Given the description of an element on the screen output the (x, y) to click on. 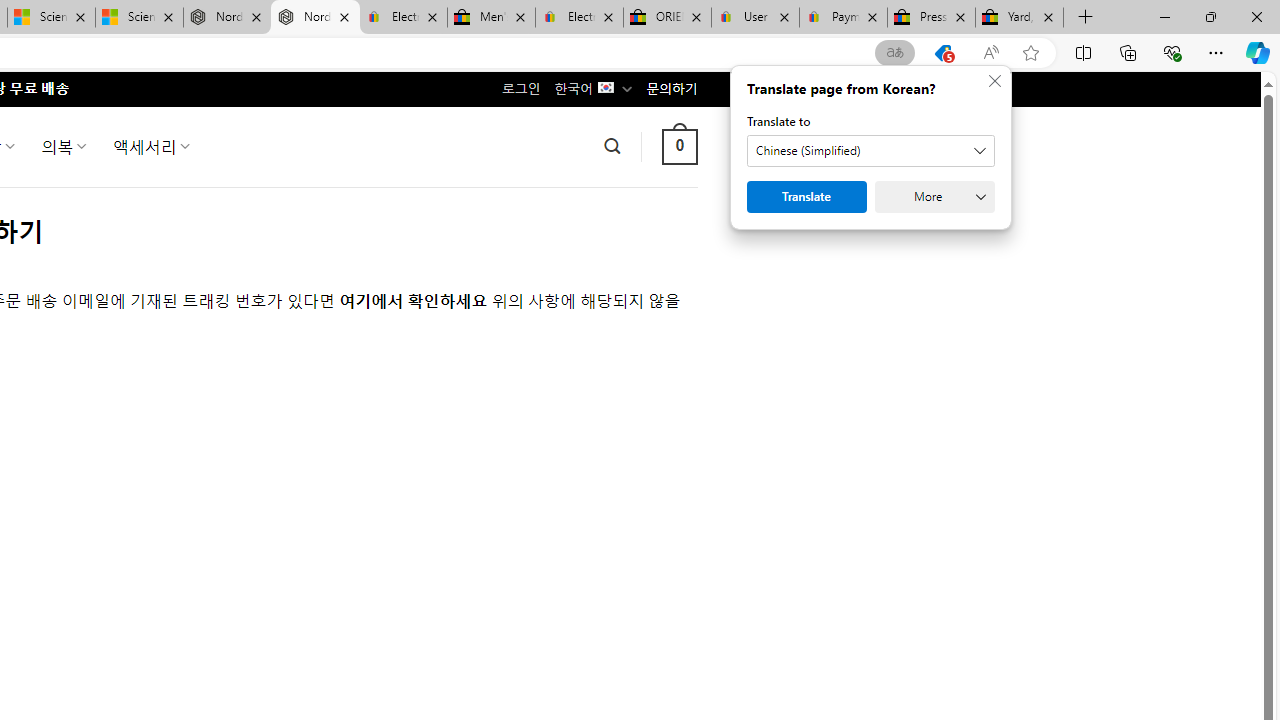
  0   (679, 146)
Translate (806, 196)
This site has coupons! Shopping in Microsoft Edge, 5 (943, 53)
